Given the description of an element on the screen output the (x, y) to click on. 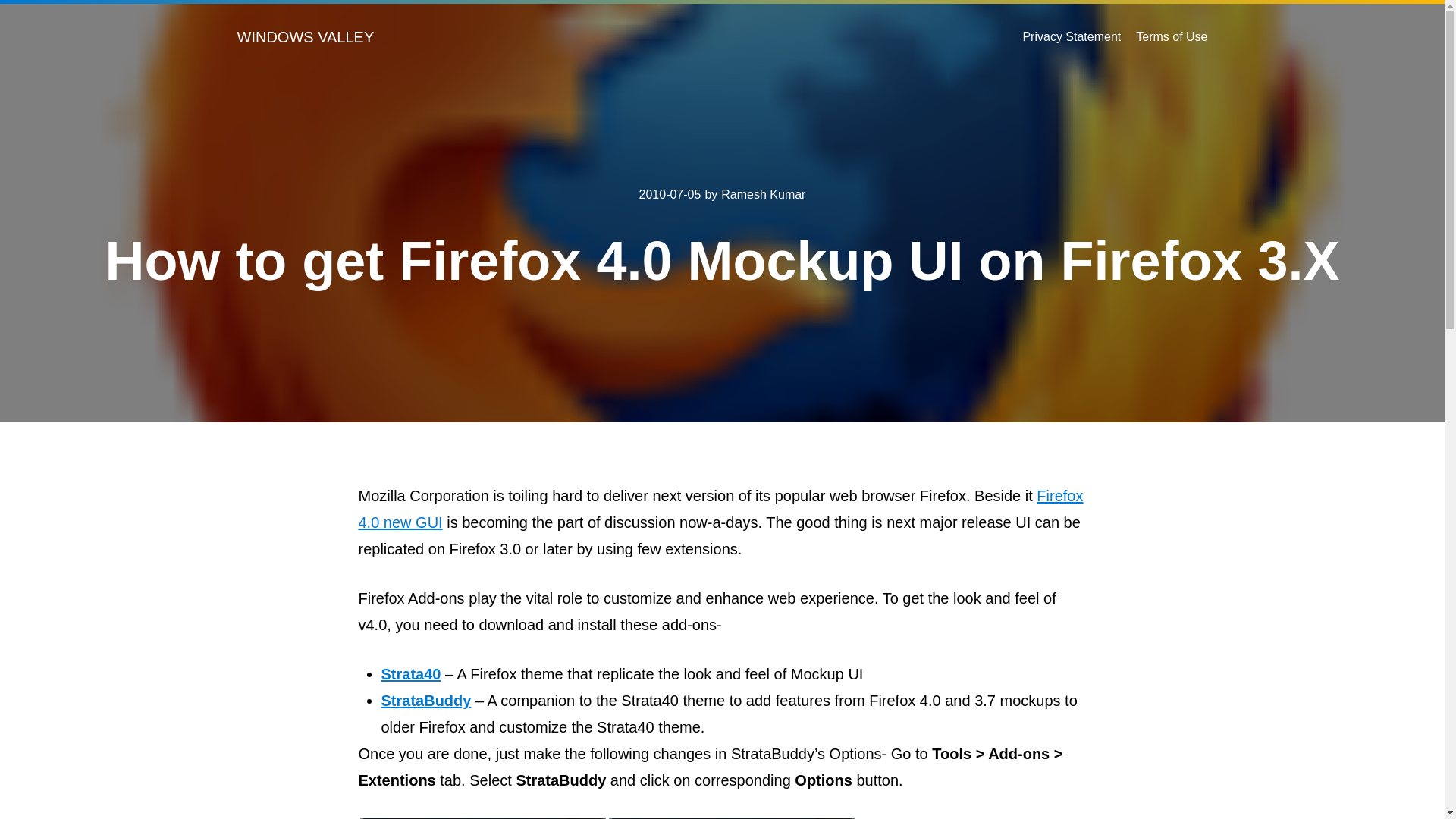
WINDOWS VALLEY (304, 36)
Strata40 (410, 673)
Privacy Statement (1071, 36)
Firefox 4.0 new GUI (720, 508)
StrataBuddy (425, 700)
Terms of Use (1171, 36)
